Given the description of an element on the screen output the (x, y) to click on. 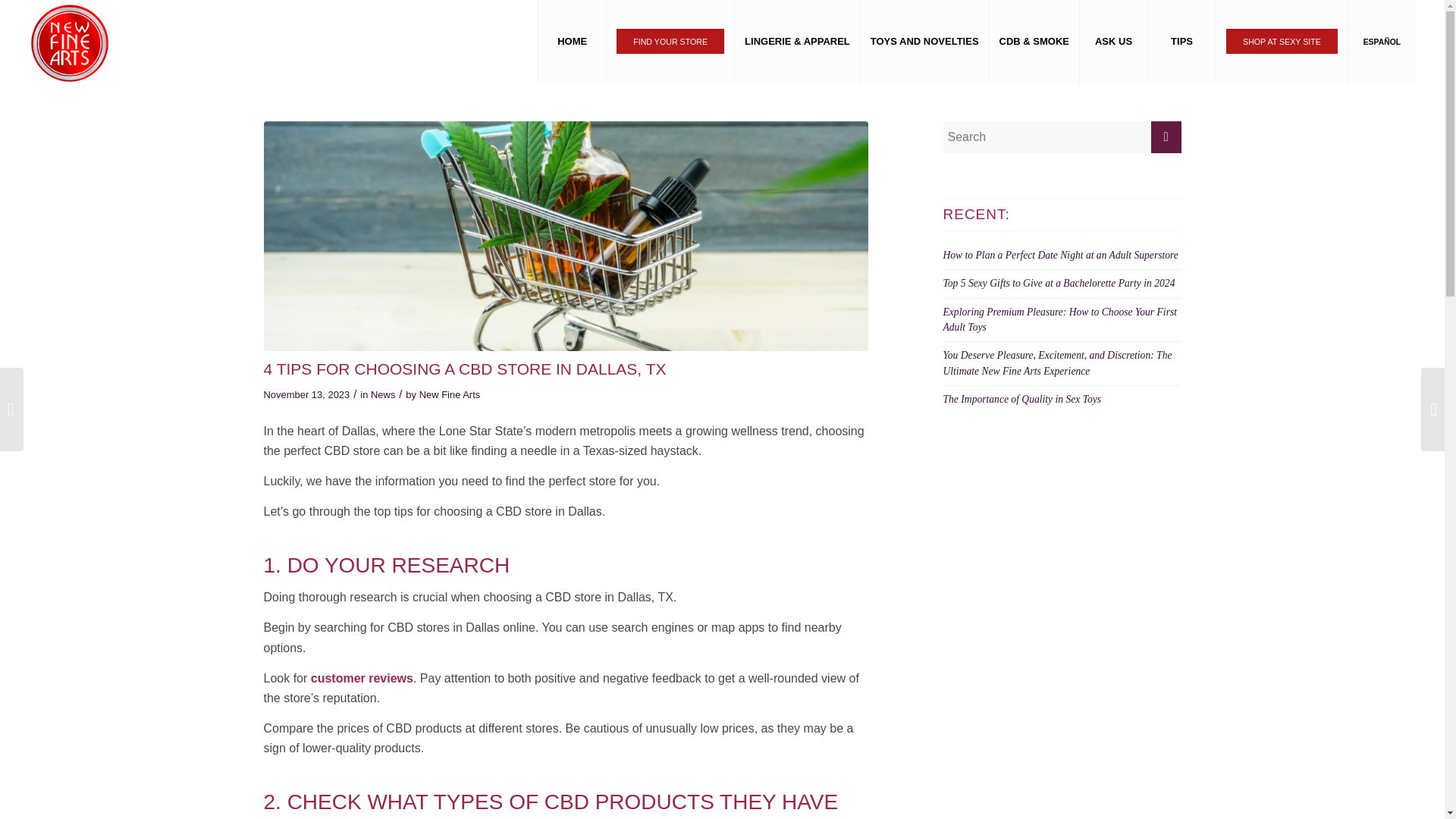
FIND YOUR STORE (669, 41)
New Fine Arts (449, 394)
Top 5 Sexy Gifts to Give at a Bachelorette Party in 2024 (1058, 283)
The Importance of Quality in Sex Toys (1022, 398)
SHOP AT SEXY SITE (1281, 41)
News (382, 394)
TOYS AND NOVELTIES (924, 41)
customer reviews (362, 677)
FIND YOUR STORE (669, 41)
Posts by New Fine Arts (449, 394)
SHOP AT SEXY SITE (1281, 41)
How to Plan a Perfect Date Night at an Adult Superstore (1060, 255)
